Given the description of an element on the screen output the (x, y) to click on. 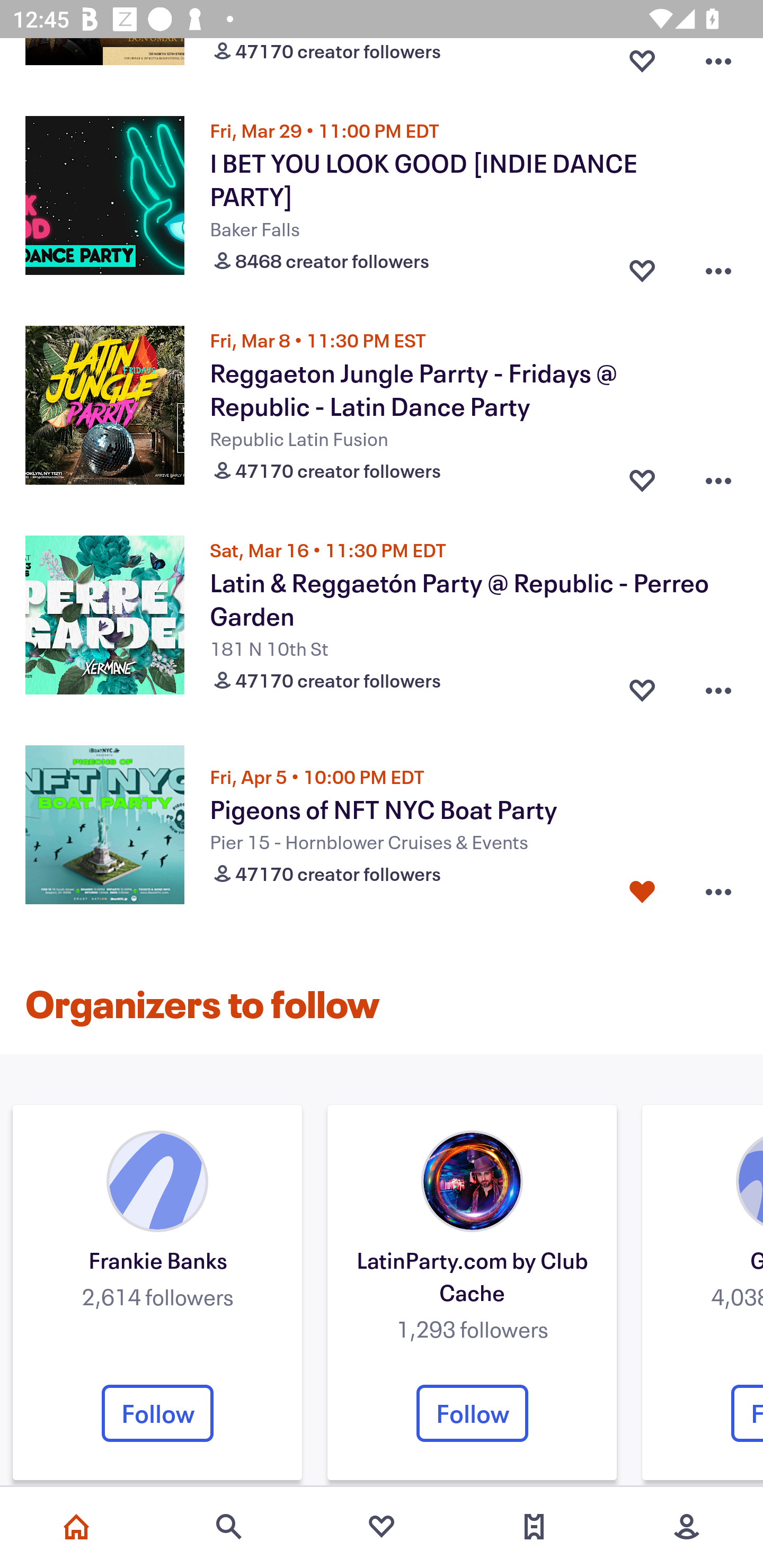
Favorite button (642, 63)
Overflow menu button (718, 63)
Favorite button (642, 267)
Overflow menu button (718, 267)
Favorite button (642, 475)
Overflow menu button (718, 475)
Favorite button (642, 685)
Overflow menu button (718, 685)
Favorite button (642, 891)
Overflow menu button (718, 891)
Follow Organizer's follow button (157, 1413)
Follow Organizer's follow button (471, 1413)
Home (76, 1526)
Search events (228, 1526)
Favorites (381, 1526)
Tickets (533, 1526)
More (686, 1526)
